Given the description of an element on the screen output the (x, y) to click on. 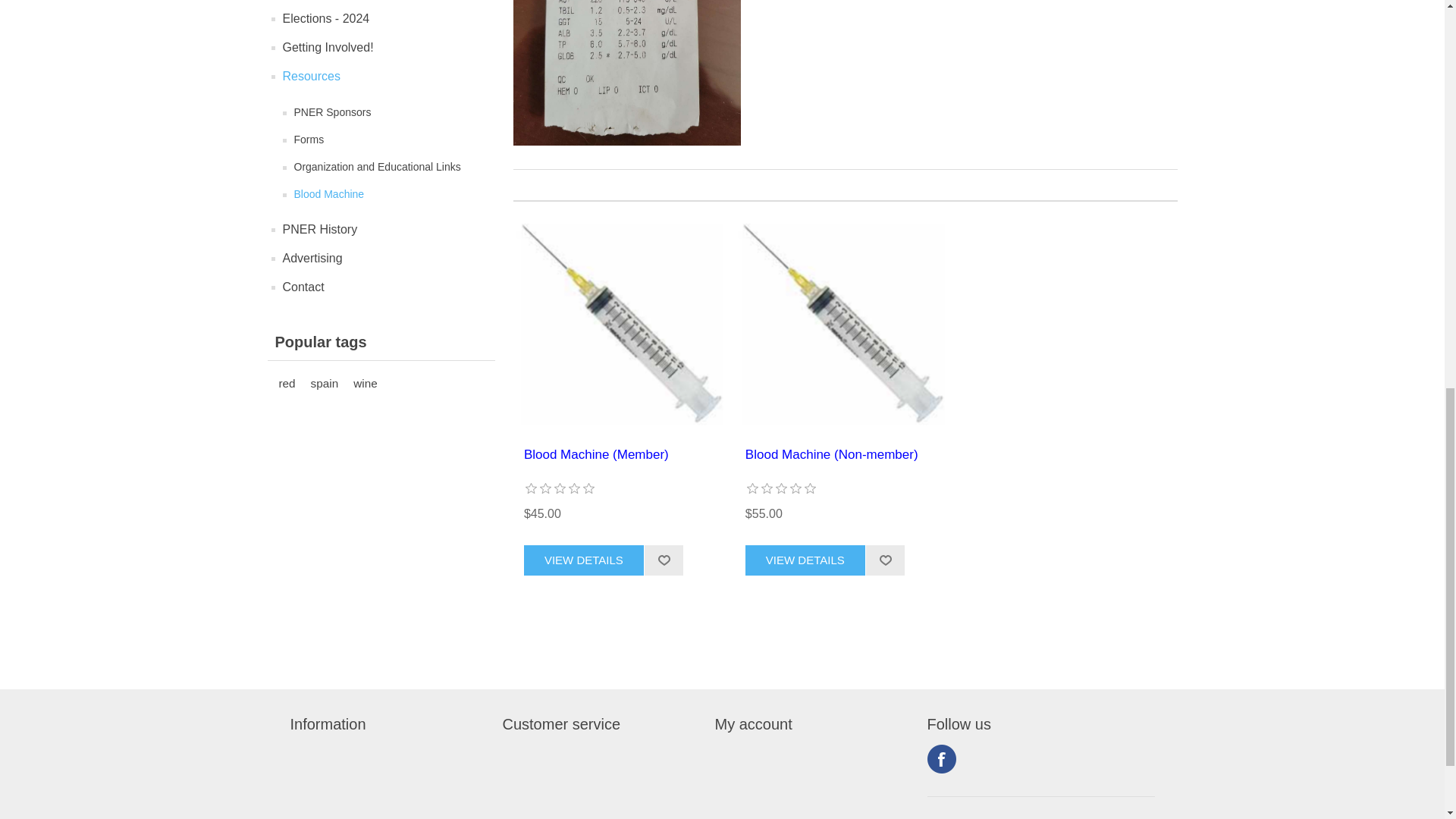
Add to wishlist (884, 560)
Add to wishlist (663, 560)
Add to wishlist (884, 560)
Add to wishlist (663, 560)
View Details (583, 560)
View Details (804, 560)
